Given the description of an element on the screen output the (x, y) to click on. 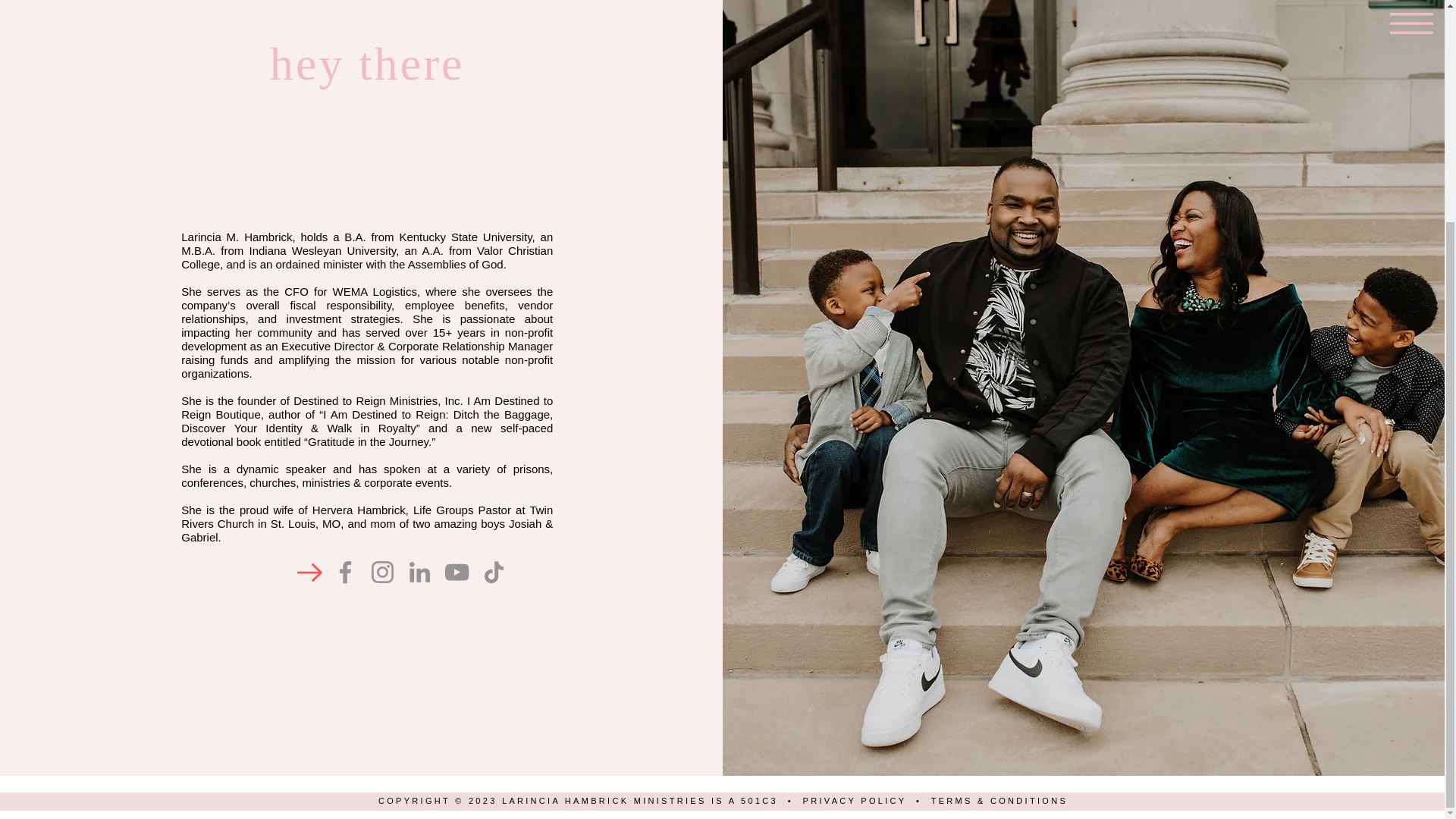
PRIVACY POLICY (855, 800)
